Given the description of an element on the screen output the (x, y) to click on. 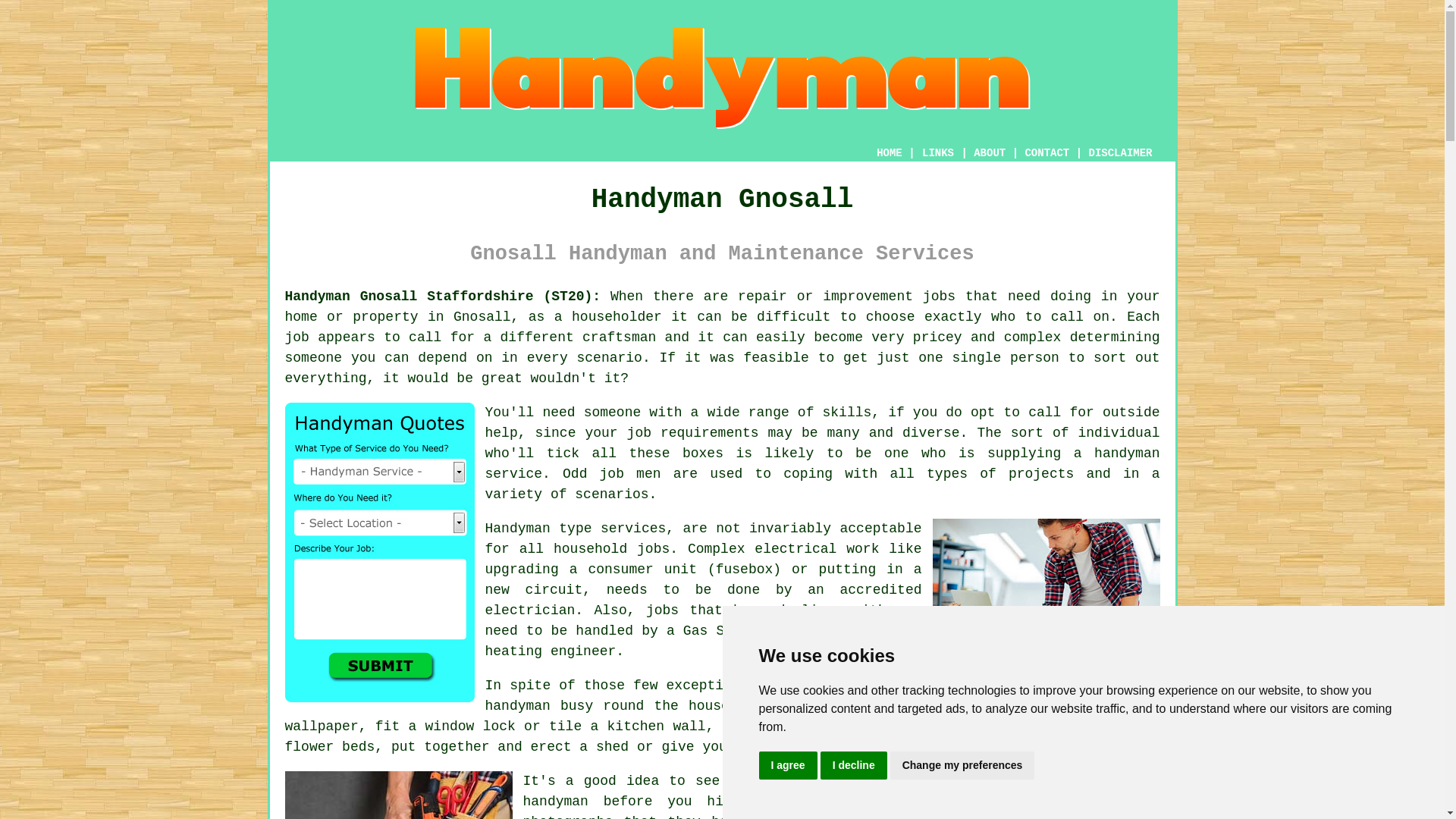
I agree (787, 765)
Change my preferences (962, 765)
I decline (853, 765)
LINKS (938, 152)
HOME (889, 152)
